Given the description of an element on the screen output the (x, y) to click on. 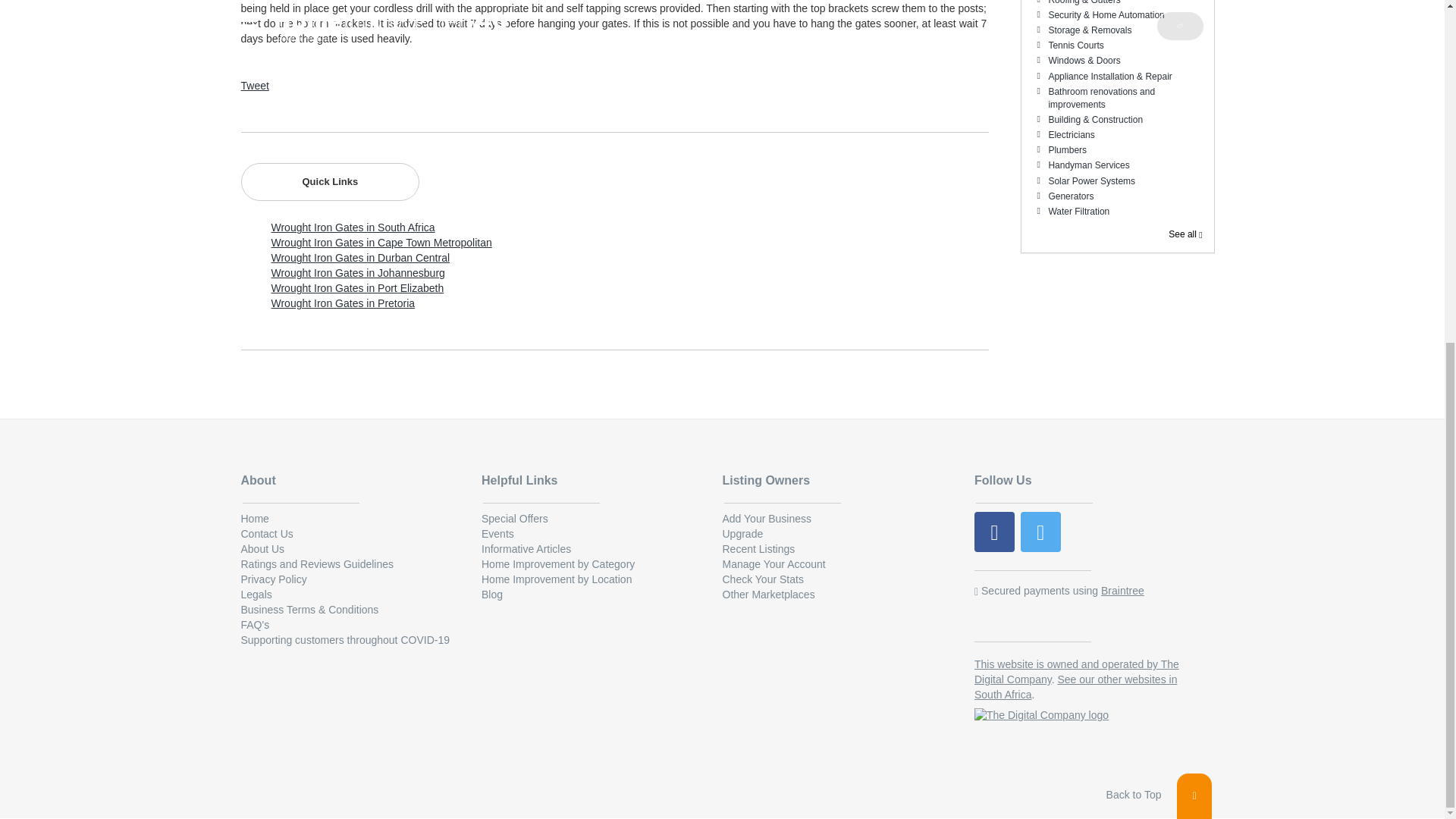
Wrought Iron Gates in Cape Town Metropolitan (381, 242)
Wrought Iron Gates in Johannesburg (357, 272)
MasterCard (1059, 615)
Wrought Iron Gates in South Africa (352, 227)
Wrought Iron Gates in Durban Central (359, 257)
Visa (1001, 615)
Wrought Iron Gates in Port Elizabeth (357, 287)
Wrought Iron Gates in Pretoria (342, 303)
Tweet (255, 85)
